Given the description of an element on the screen output the (x, y) to click on. 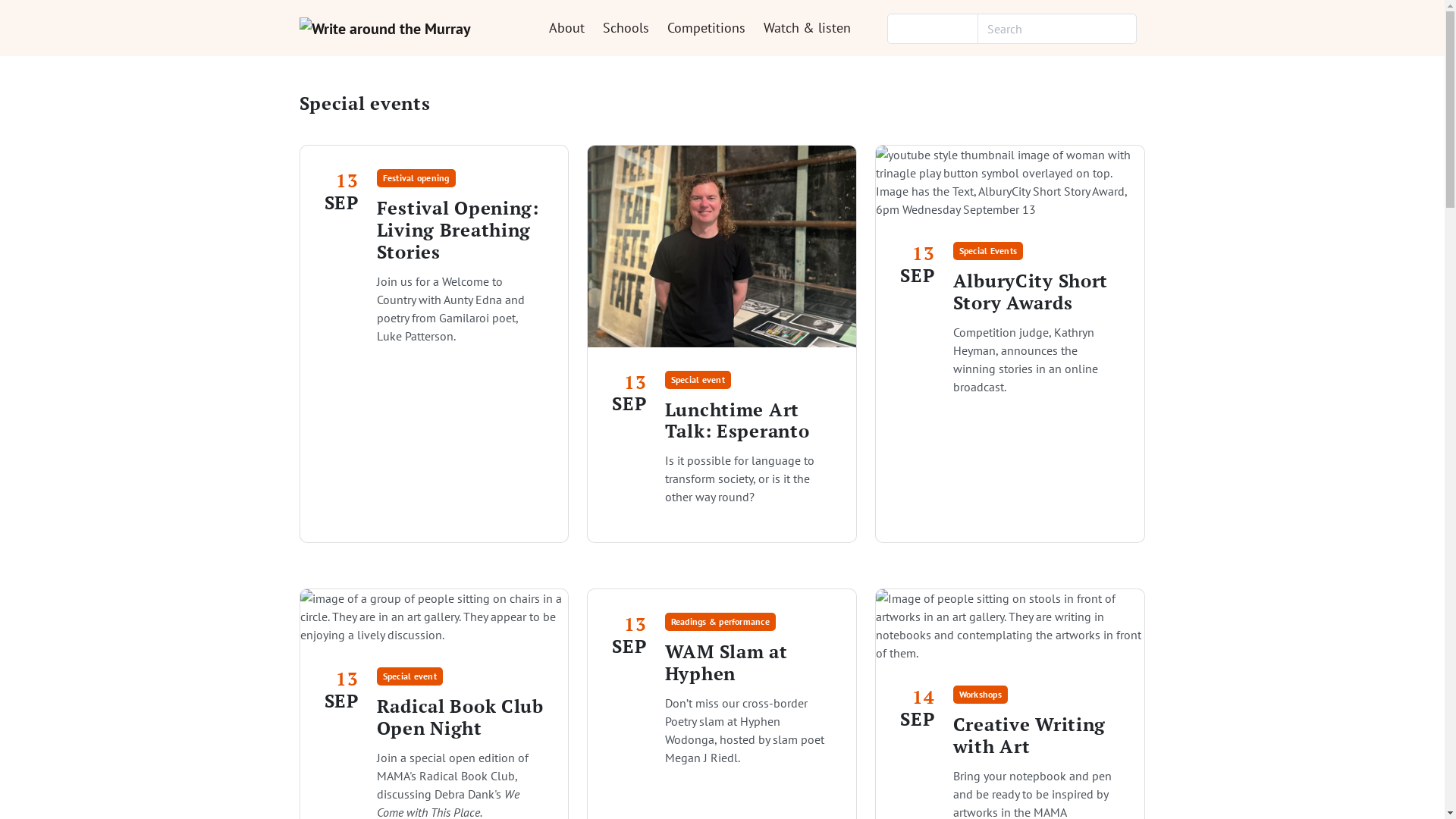
Competitions Element type: text (706, 27)
Schools Element type: text (625, 27)
About Element type: text (566, 27)
Watch & listen Element type: text (806, 27)
